Given the description of an element on the screen output the (x, y) to click on. 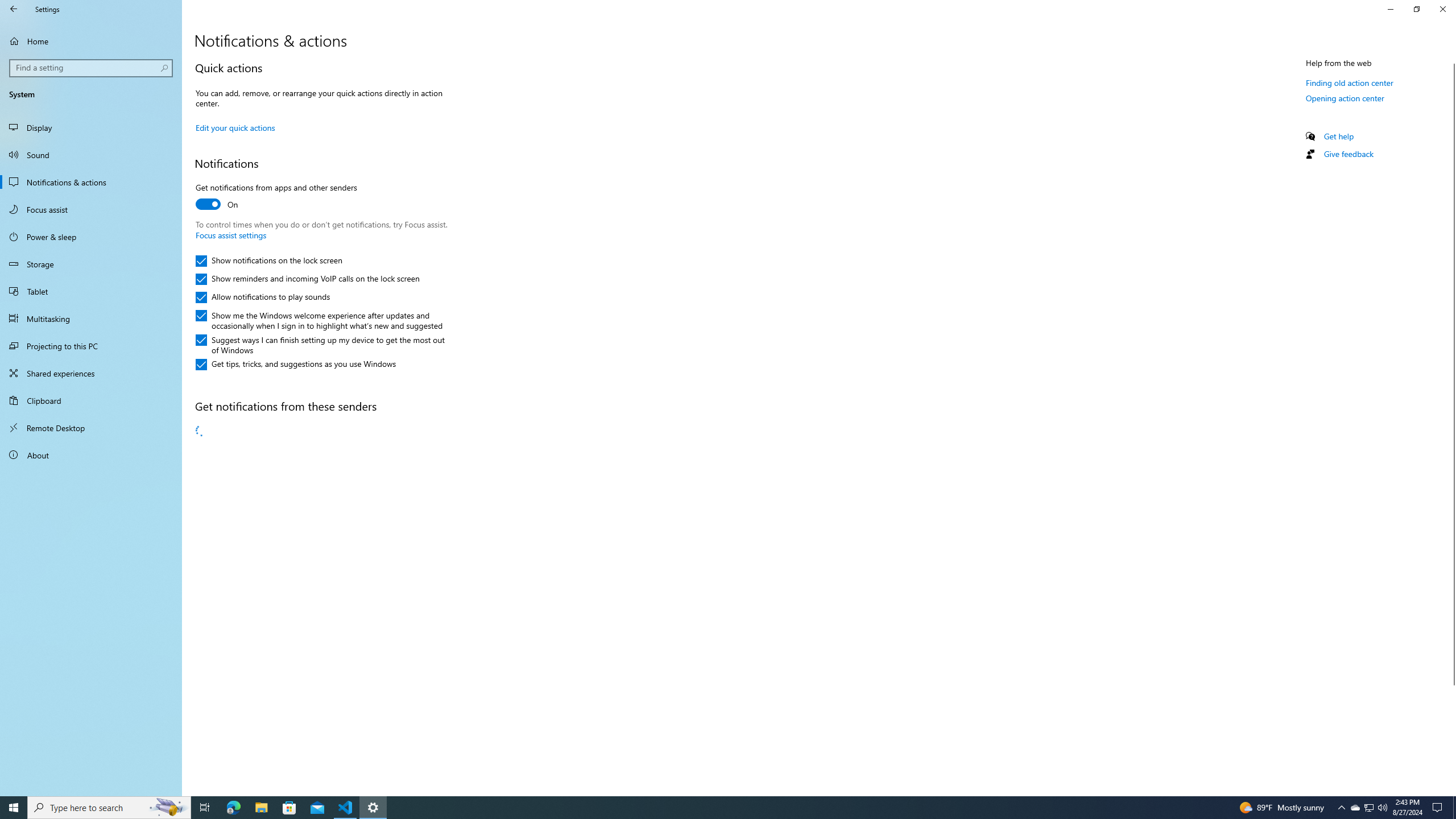
Remote Desktop (91, 427)
Vertical Large Increase (1451, 736)
Vertical (1451, 425)
Search box, Find a setting (91, 67)
Tablet (91, 290)
Focus assist (91, 208)
Storage (91, 263)
Give feedback (1348, 153)
Home (91, 40)
Finding old action center (1349, 82)
